Given the description of an element on the screen output the (x, y) to click on. 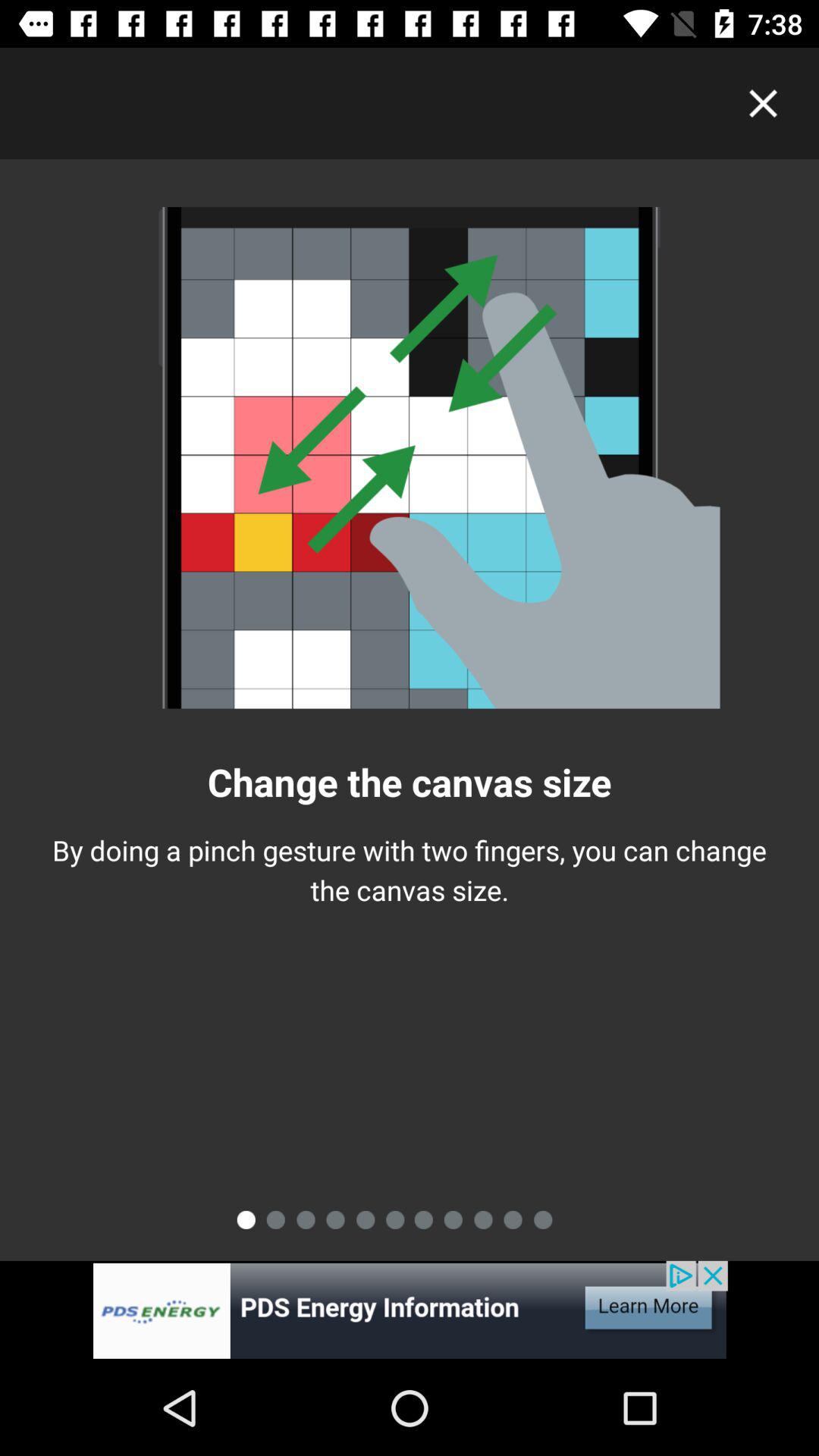
advertisement (409, 1310)
